Given the description of an element on the screen output the (x, y) to click on. 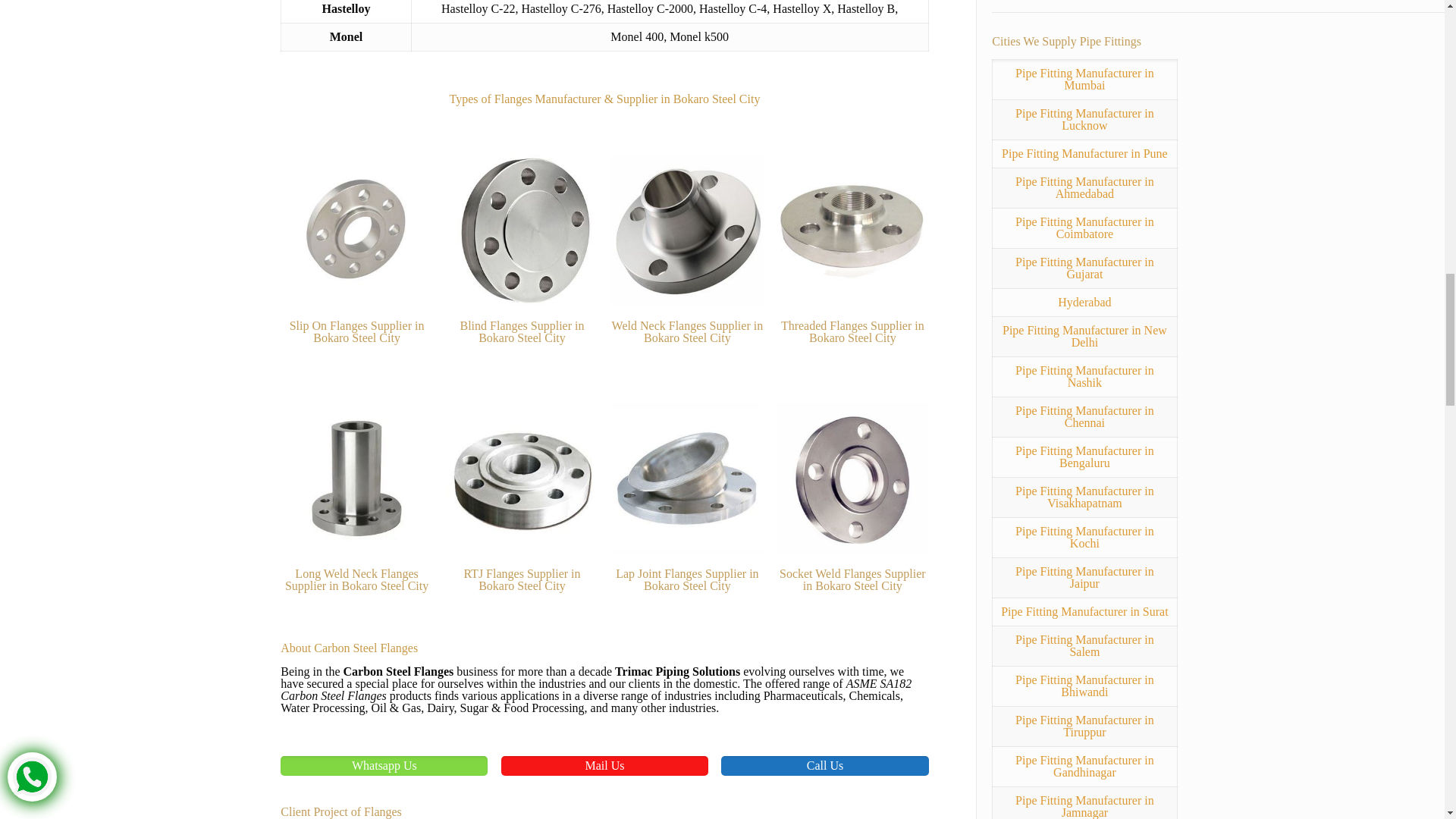
Slip On Flanges Supplier in Bokaro Steel City (356, 230)
